Given the description of an element on the screen output the (x, y) to click on. 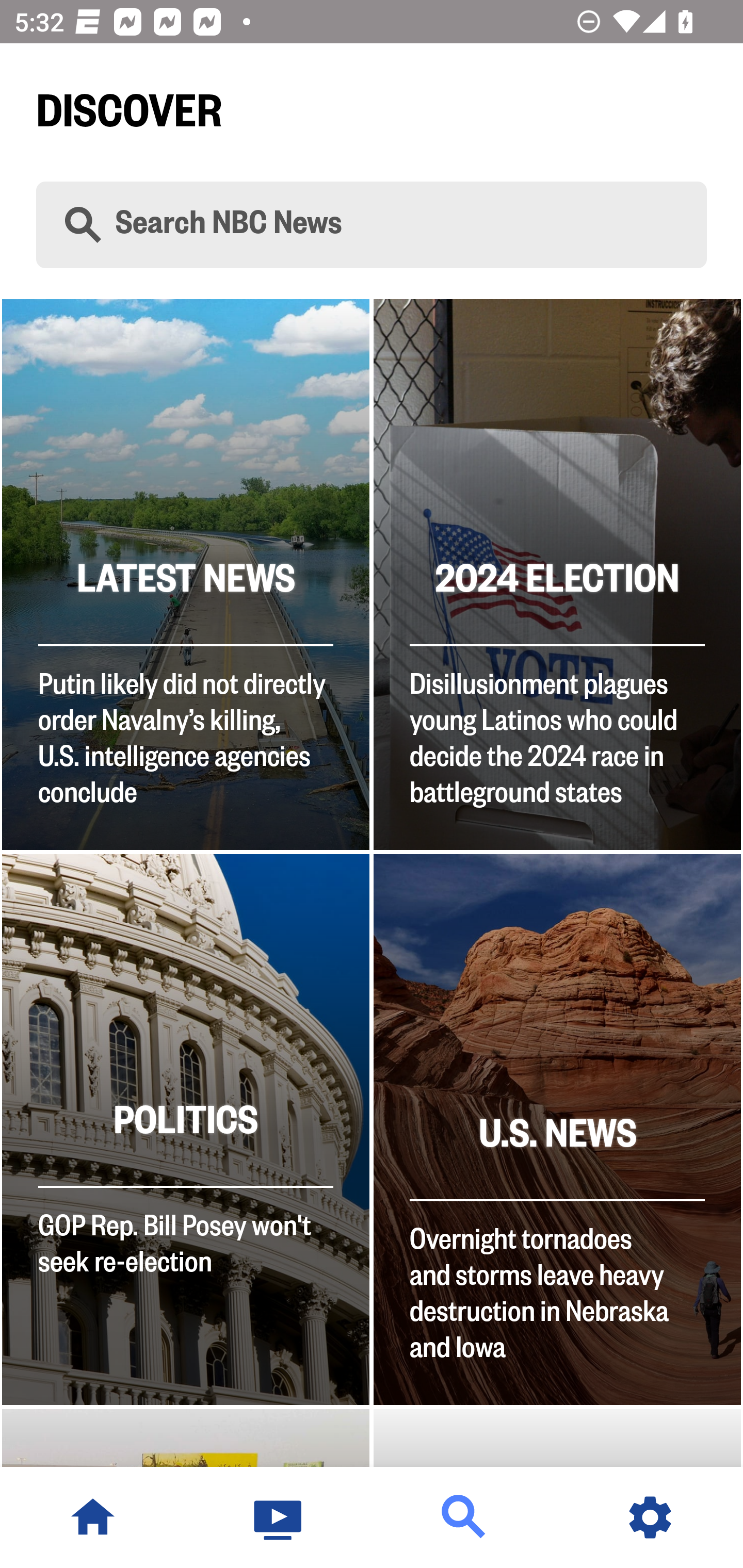
NBC News Home (92, 1517)
Watch (278, 1517)
Settings (650, 1517)
